Given the description of an element on the screen output the (x, y) to click on. 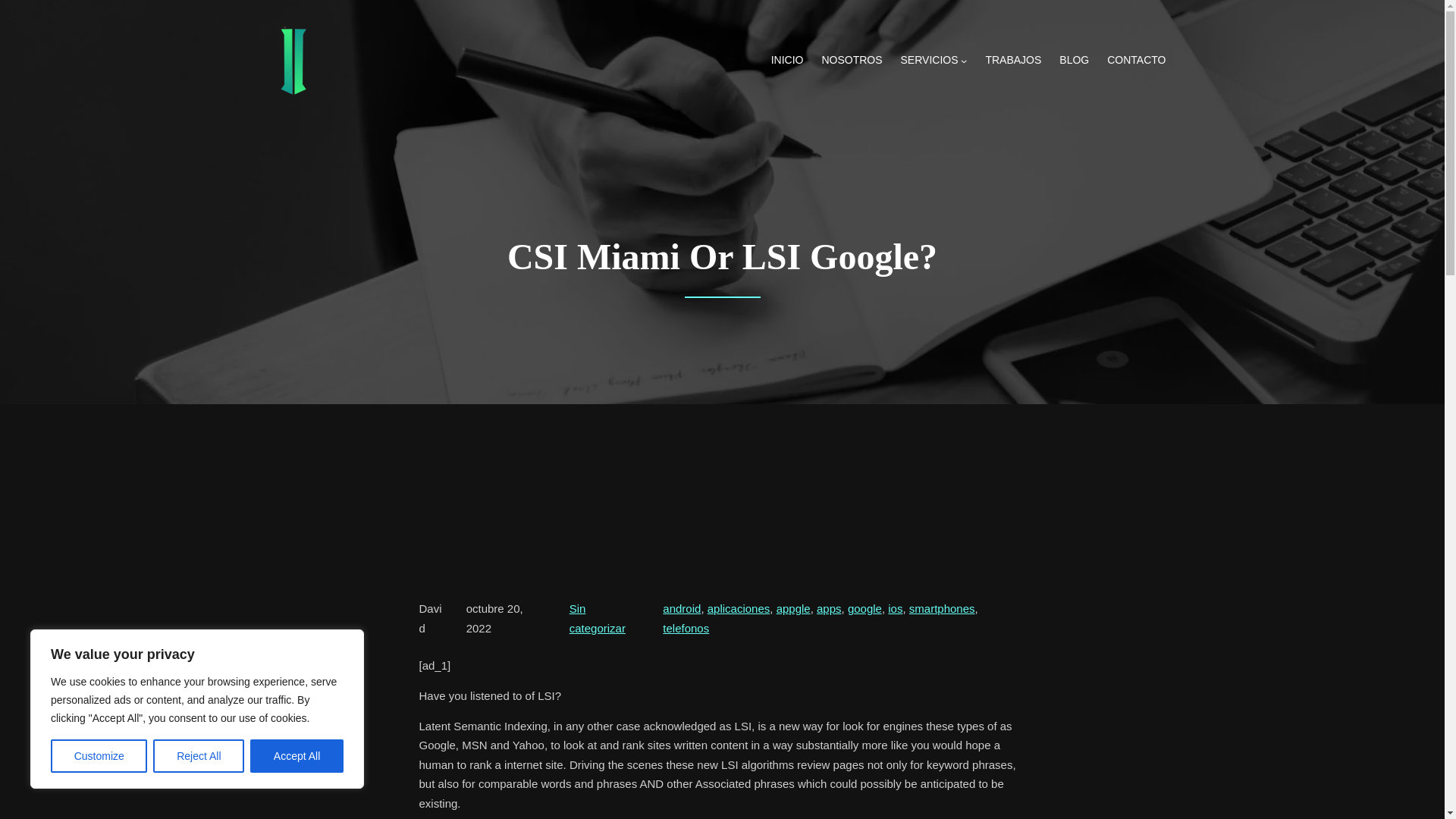
SERVICIOS (929, 60)
ios (895, 608)
appgle (793, 608)
NOSOTROS (851, 60)
apps (828, 608)
TRABAJOS (1013, 60)
INICIO (787, 60)
BLOG (1074, 60)
Reject All (198, 756)
aplicaciones (738, 608)
